Given the description of an element on the screen output the (x, y) to click on. 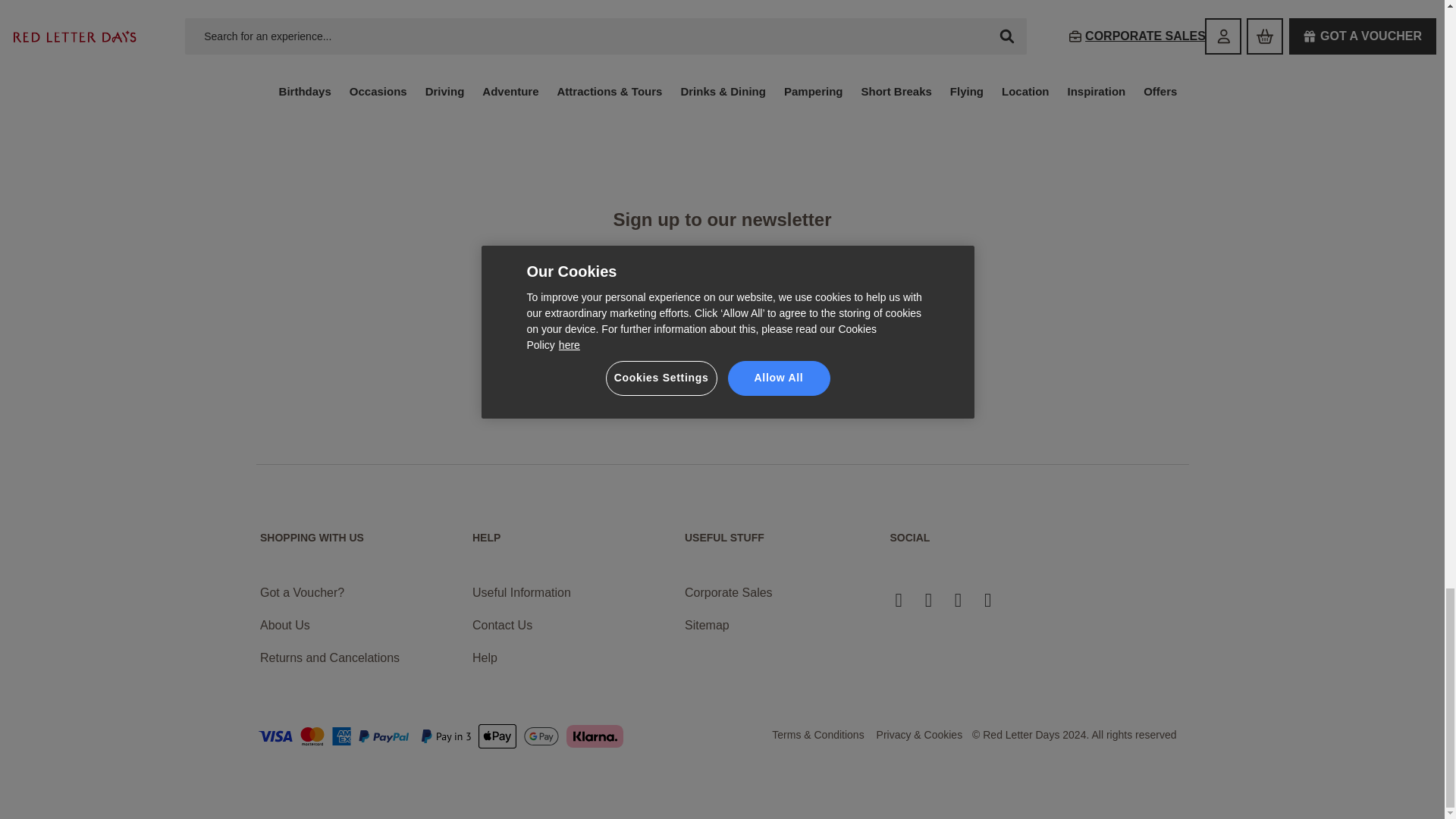
Subscribe (868, 391)
